Given the description of an element on the screen output the (x, y) to click on. 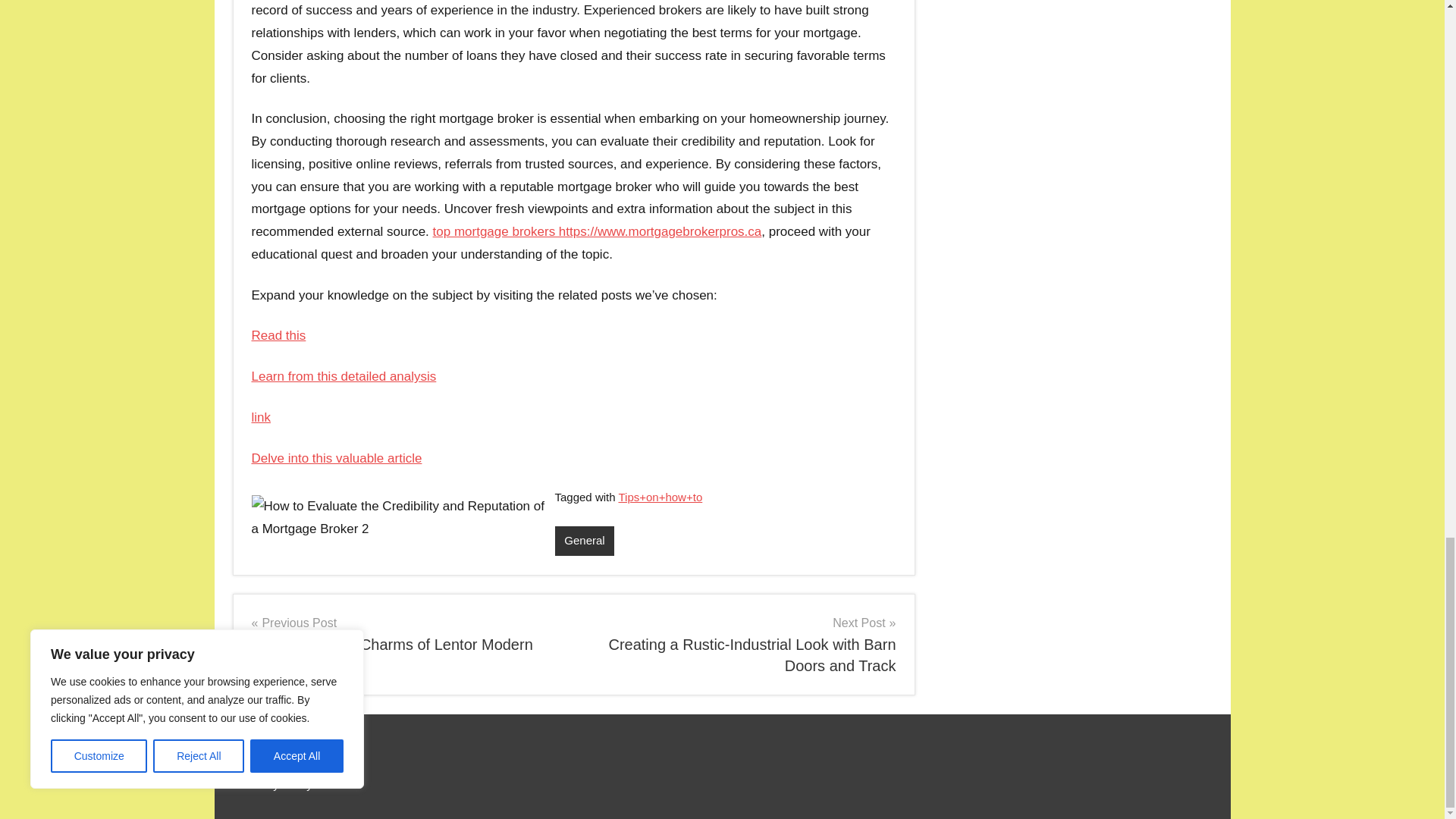
Learn from this detailed analysis (343, 376)
Read this (278, 335)
Delve into this valuable article (336, 458)
link (260, 417)
General (584, 541)
